Given the description of an element on the screen output the (x, y) to click on. 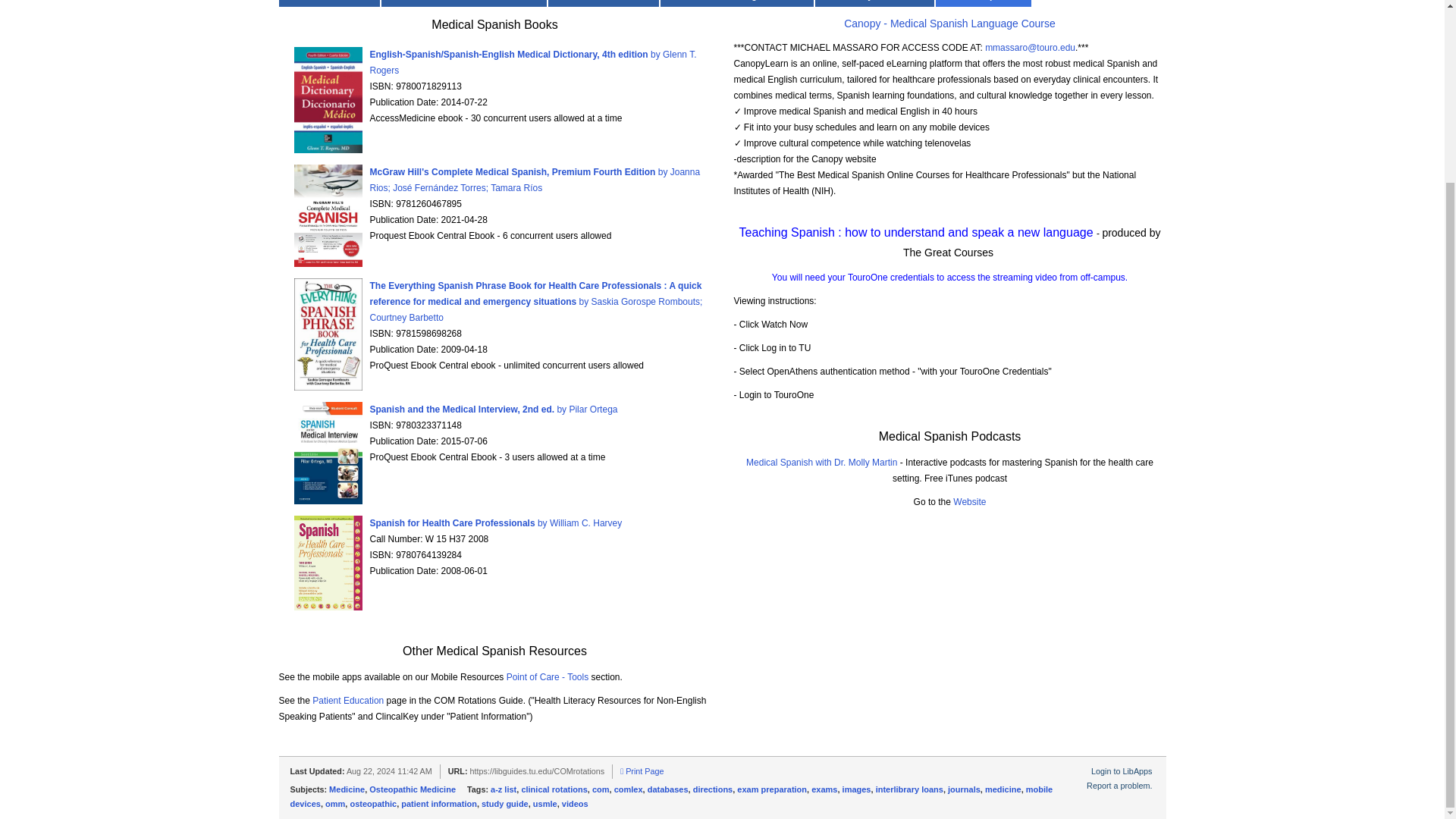
citation guides for APA and AMA style formats (603, 2)
Biomedical Literature Databases (464, 2)
Medical Spanish with Dr. Molly Martin (820, 462)
Canopy - Medical Spanish Language Course (949, 23)
Residency Resources (874, 2)
Point of Care - Tools (547, 676)
guides for medical Spanish terminology and tutorials (983, 2)
Website (969, 501)
